Given the description of an element on the screen output the (x, y) to click on. 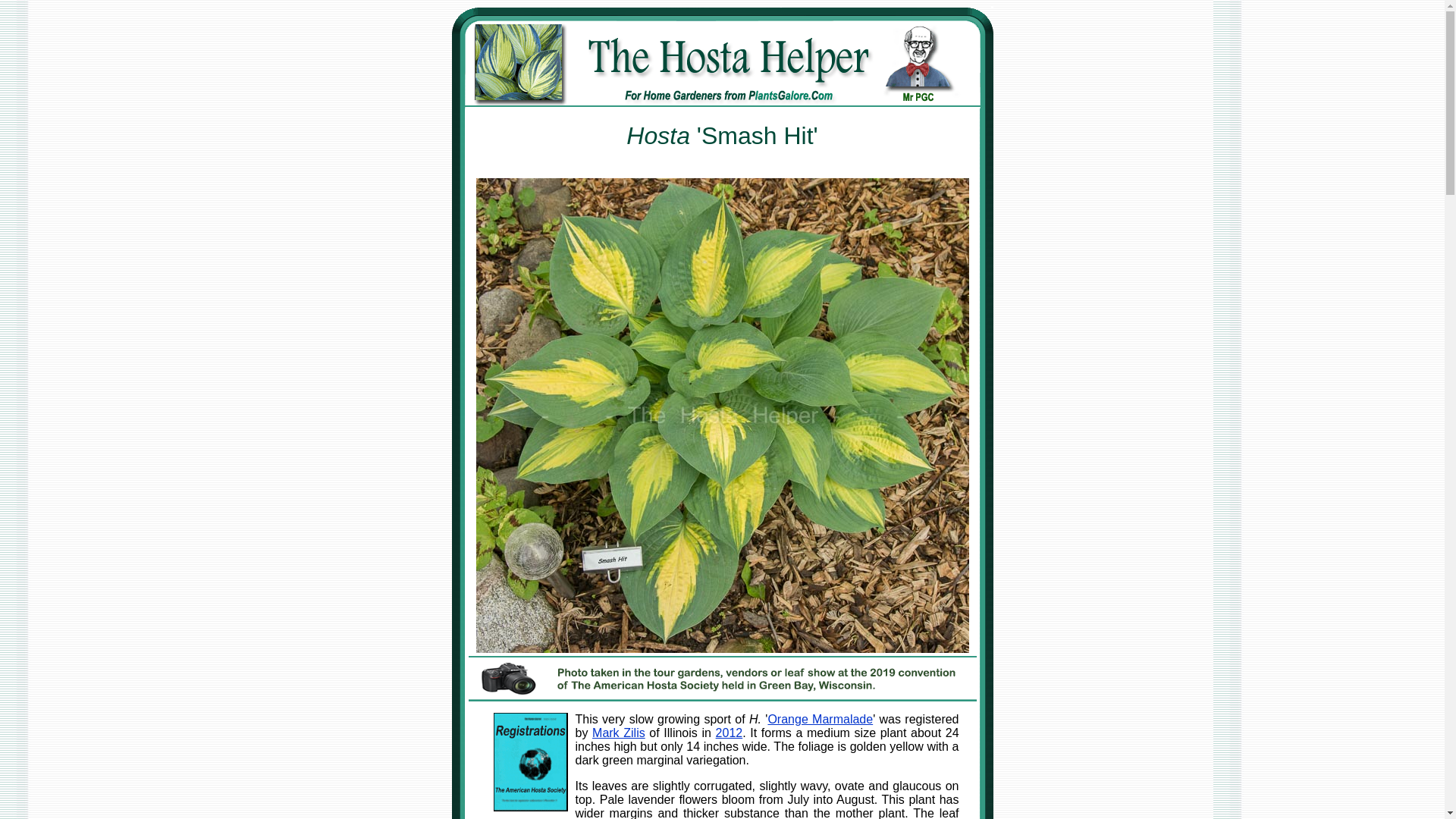
2012 (729, 732)
Mark Zilis (618, 732)
Orange Marmalade (819, 718)
